Given the description of an element on the screen output the (x, y) to click on. 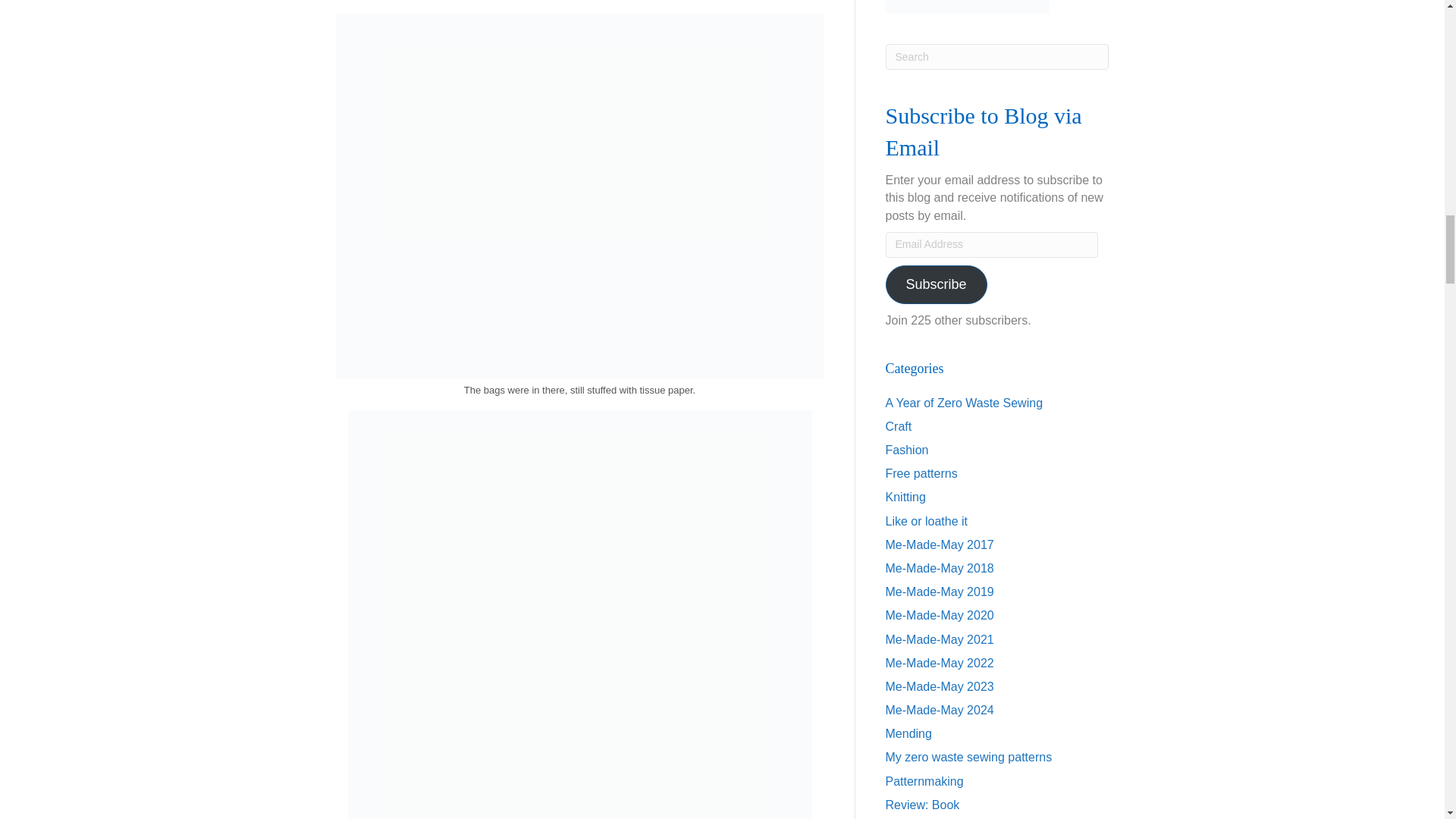
Type and press Enter to search. (997, 56)
